Given the description of an element on the screen output the (x, y) to click on. 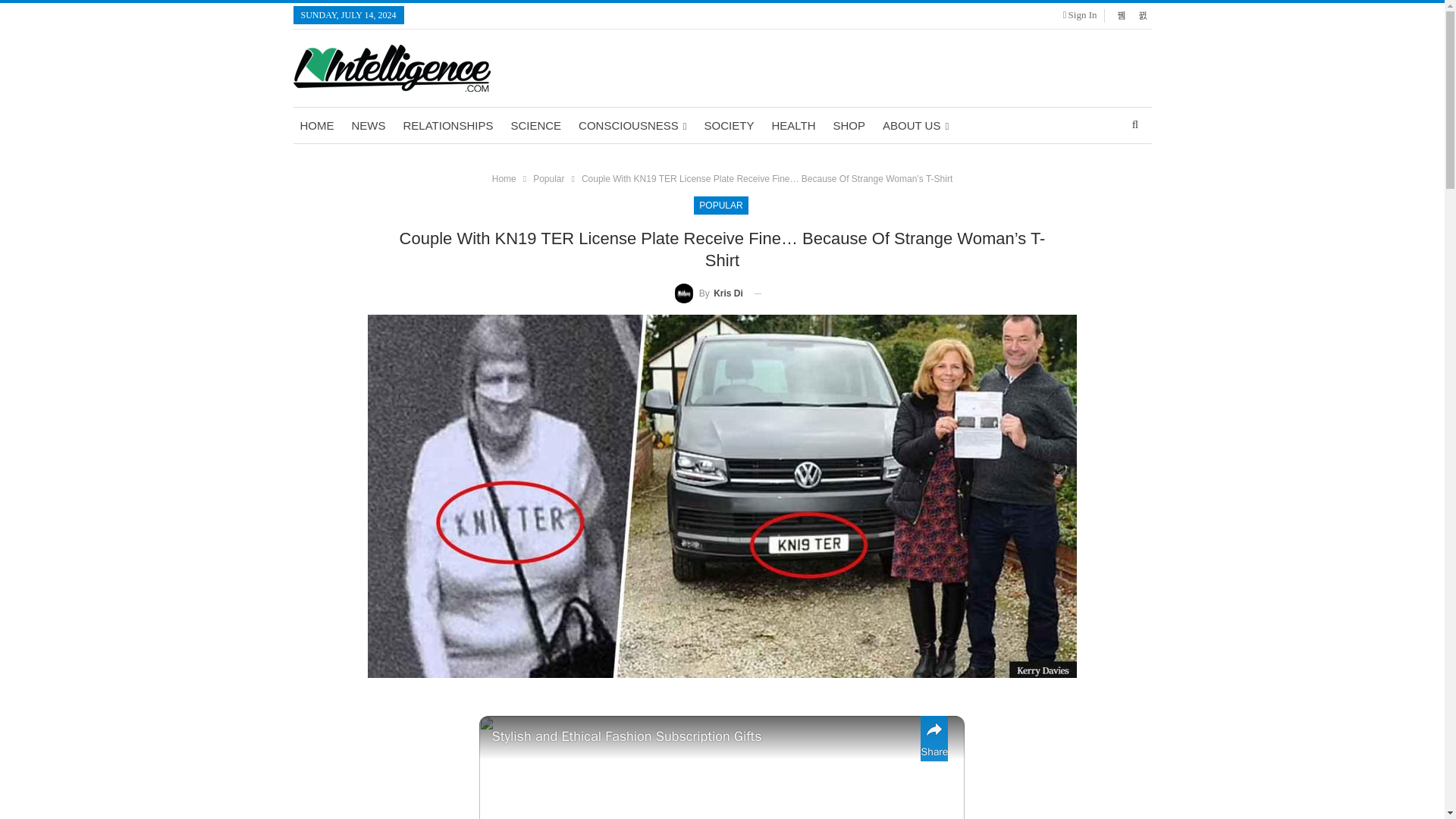
Browse Author Articles (708, 292)
Sign In (1082, 14)
ABOUT US (915, 125)
CONSCIOUSNESS (632, 125)
By Kris Di (708, 292)
share (933, 738)
NEWS (367, 125)
Share (933, 738)
HEALTH (793, 125)
Popular (548, 178)
Stylish and Ethical Fashion Subscription Gifts (702, 736)
POPULAR (721, 205)
HOME (316, 125)
RELATIONSHIPS (447, 125)
SHOP (849, 125)
